Given the description of an element on the screen output the (x, y) to click on. 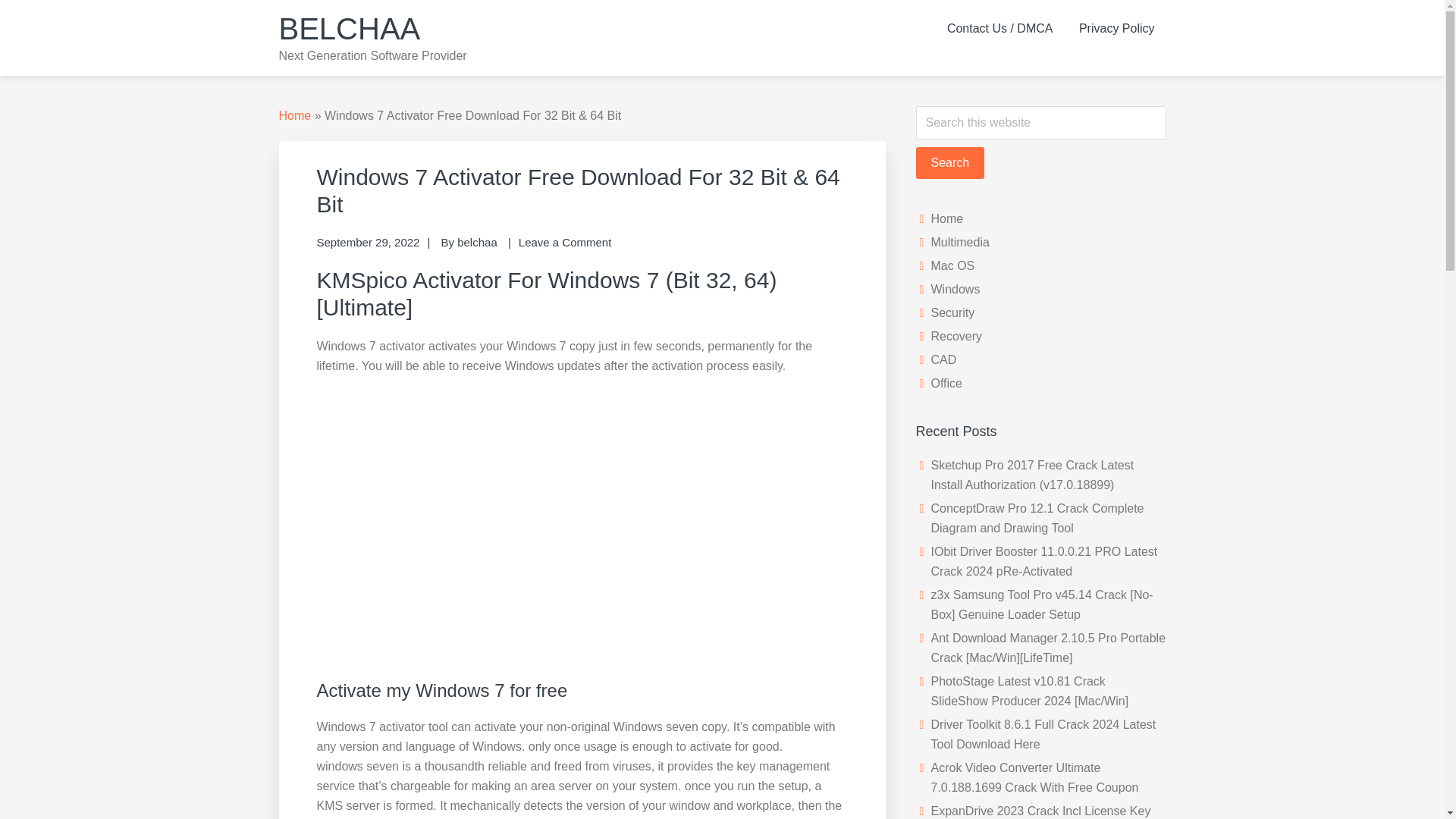
CAD (943, 359)
Search (950, 163)
Recovery (956, 336)
Home (947, 218)
Search (950, 163)
BELCHAA (349, 28)
Multimedia (960, 241)
Privacy Policy (1116, 28)
Security (953, 312)
Search (950, 163)
